Given the description of an element on the screen output the (x, y) to click on. 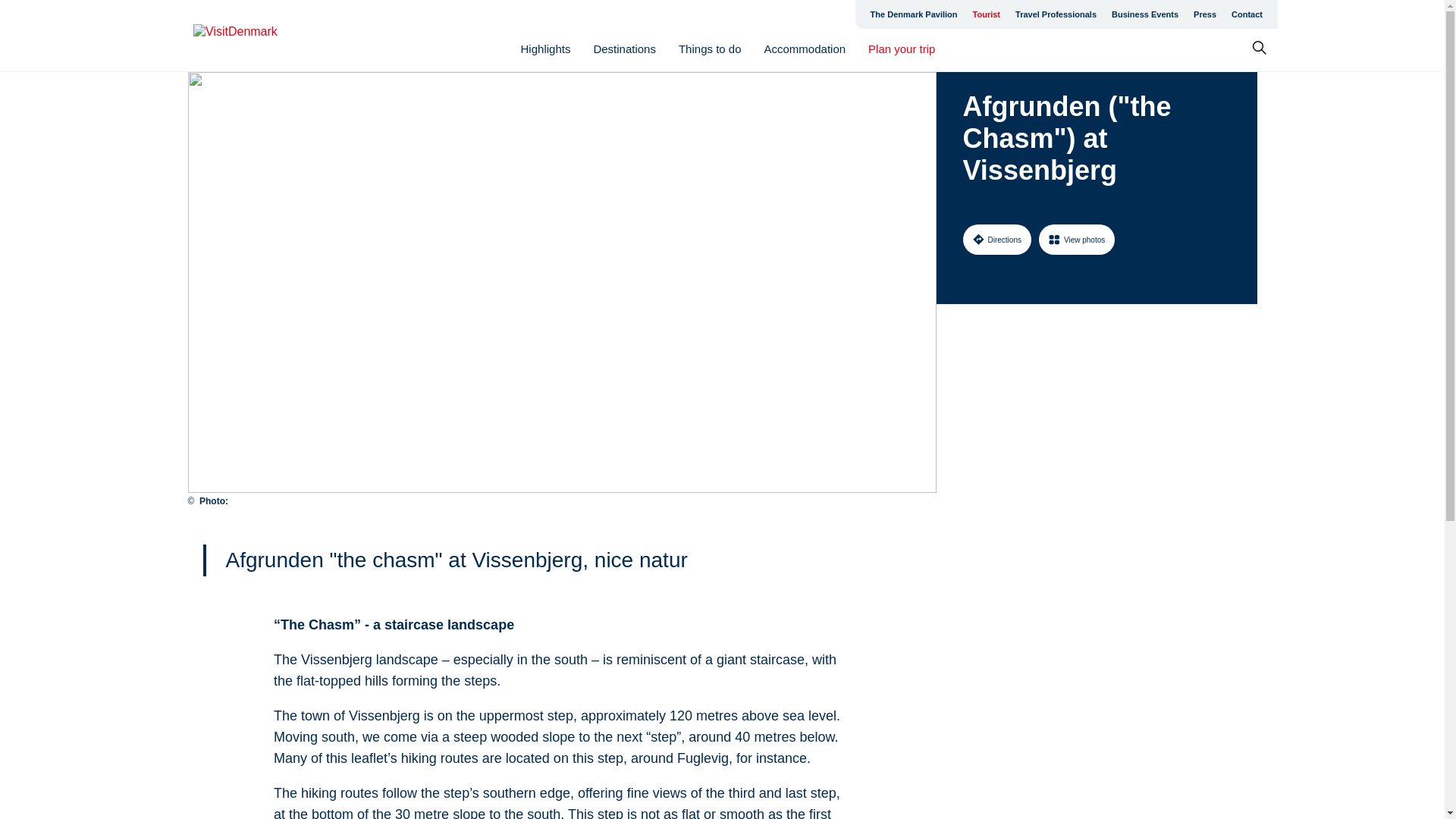
View photos (1077, 239)
Destinations (624, 48)
The Denmark Pavilion (914, 14)
Directions (996, 239)
Tourist (986, 14)
Accommodation (804, 48)
Travel Professionals (1055, 14)
Business Events (1144, 14)
Plan your trip (900, 48)
Highlights (545, 48)
Go to homepage (253, 35)
Things to do (709, 48)
Contact (1246, 14)
Press (1205, 14)
